Given the description of an element on the screen output the (x, y) to click on. 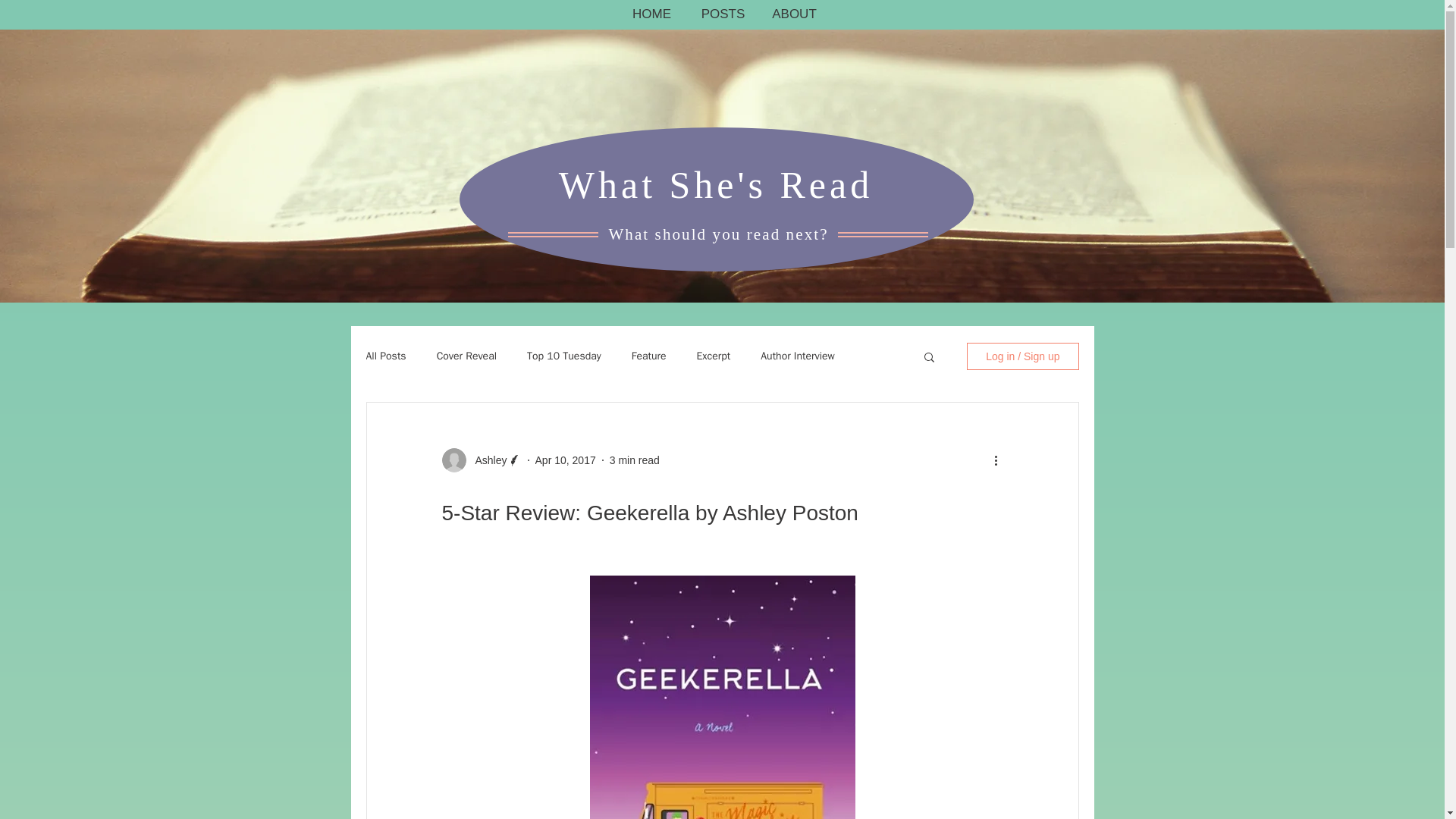
Excerpt (713, 356)
Cover Reveal (466, 356)
Apr 10, 2017 (565, 459)
POSTS (722, 14)
Top 10 Tuesday (564, 356)
ABOUT (793, 14)
Author Interview (797, 356)
What She's Read (715, 184)
HOME (651, 14)
3 min read (634, 459)
All Posts (385, 356)
Feature (648, 356)
Ashley (485, 459)
